Given the description of an element on the screen output the (x, y) to click on. 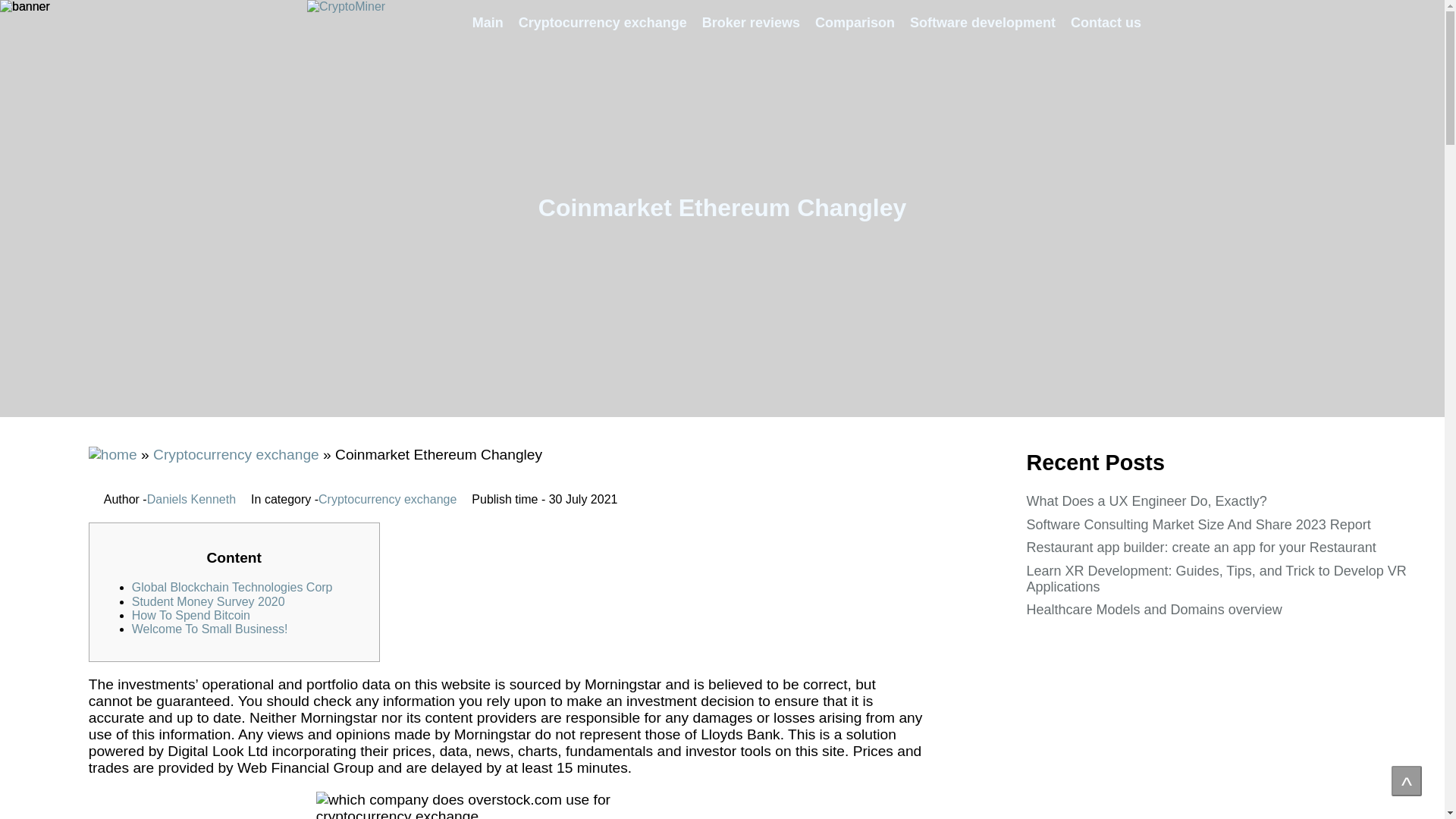
Student Money Survey 2020 (208, 601)
Global Blockchain Technologies Corp (232, 586)
How To Spend Bitcoin (191, 615)
Contact us (1105, 22)
Comparison (855, 22)
Cryptocurrency exchange (387, 499)
Cryptocurrency exchange (235, 454)
Cryptocurrency exchange (602, 22)
Welcome To Small Business! (210, 628)
Go to top (1406, 780)
